Given the description of an element on the screen output the (x, y) to click on. 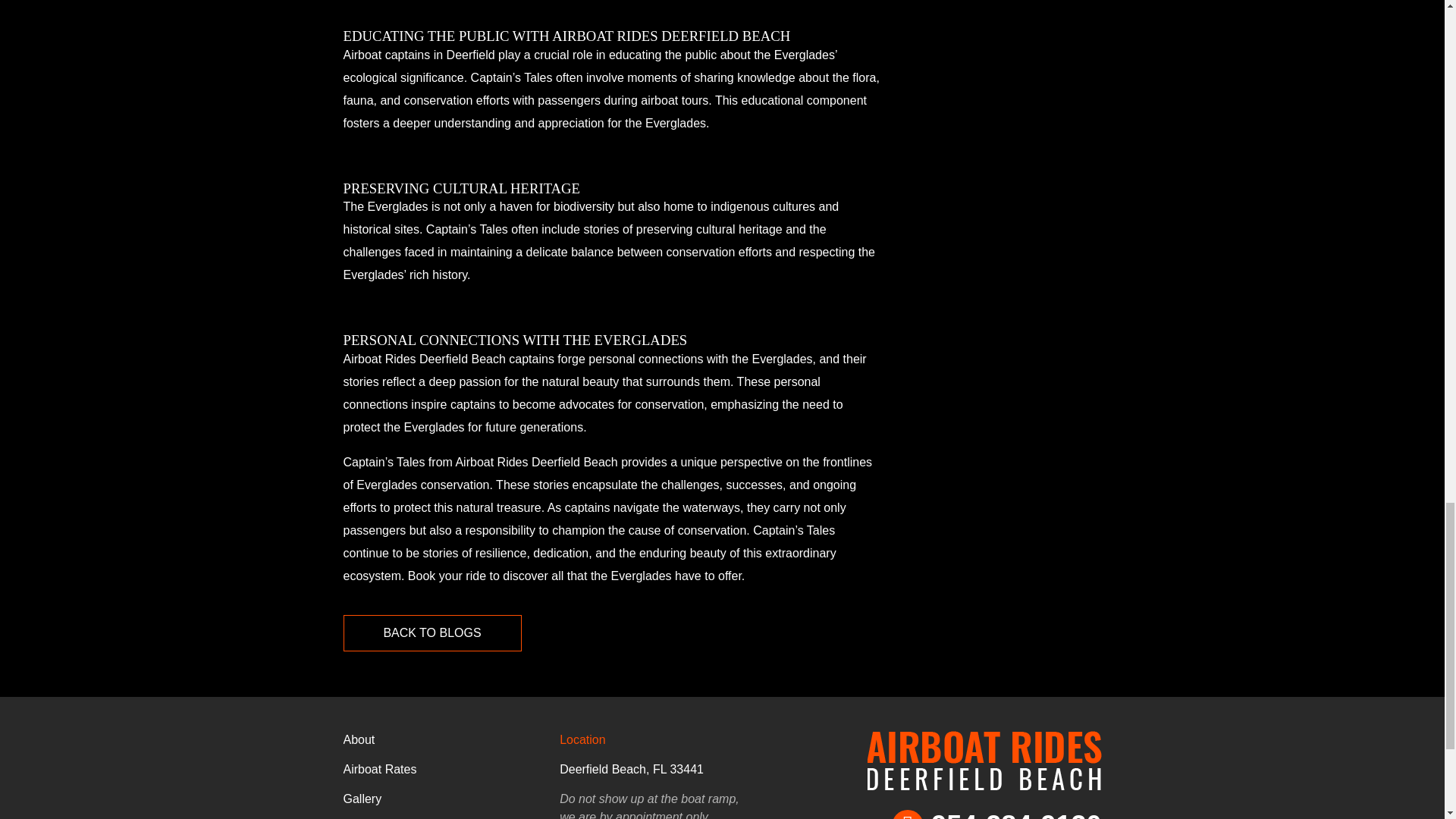
About (358, 739)
Airboat Rates (379, 768)
Gallery (361, 798)
954-284-9130 (995, 814)
Book your ride (446, 575)
BACK TO BLOGS (431, 633)
